Given the description of an element on the screen output the (x, y) to click on. 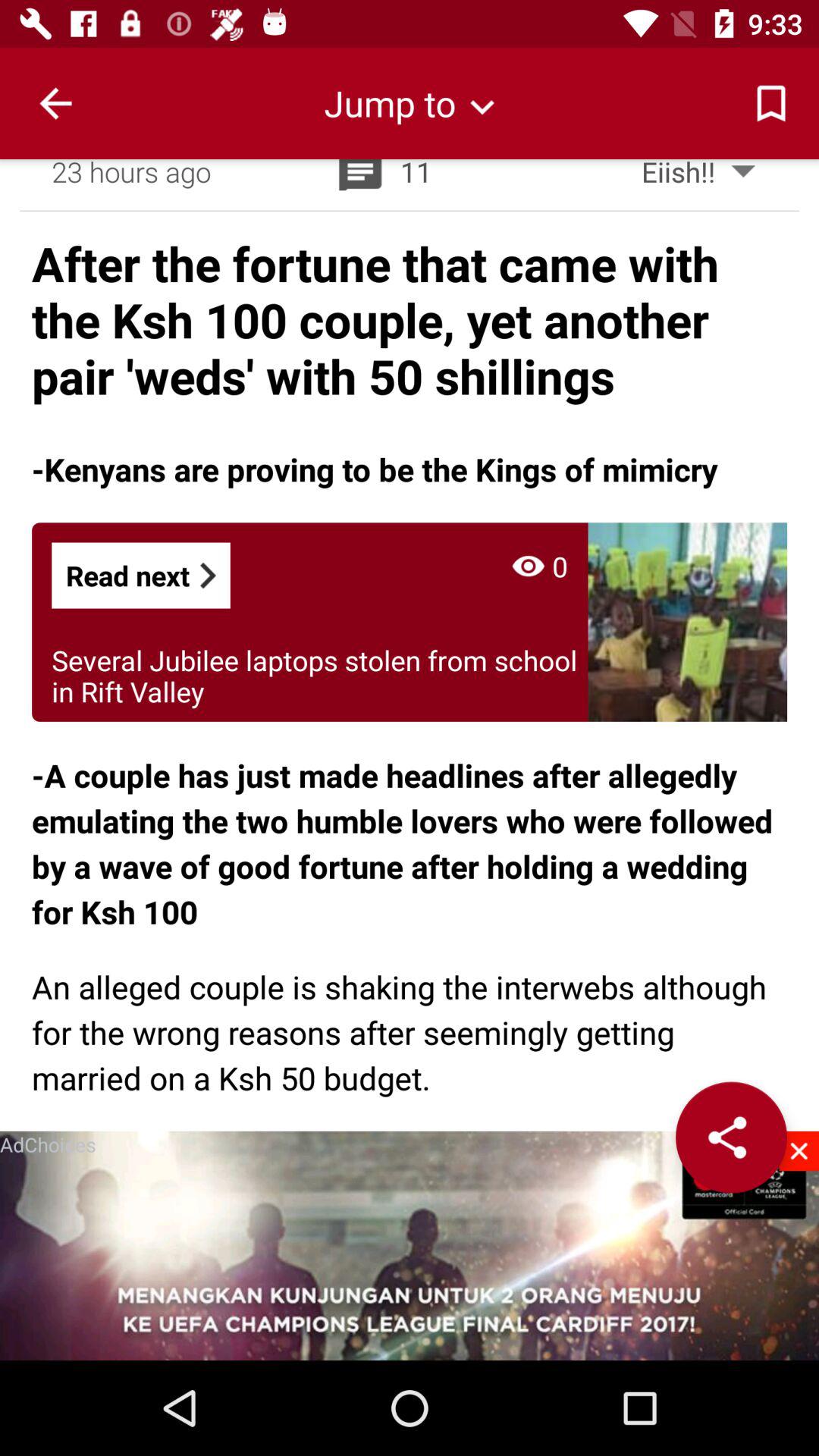
launch the icon next to adchoices icon (799, 1151)
